Given the description of an element on the screen output the (x, y) to click on. 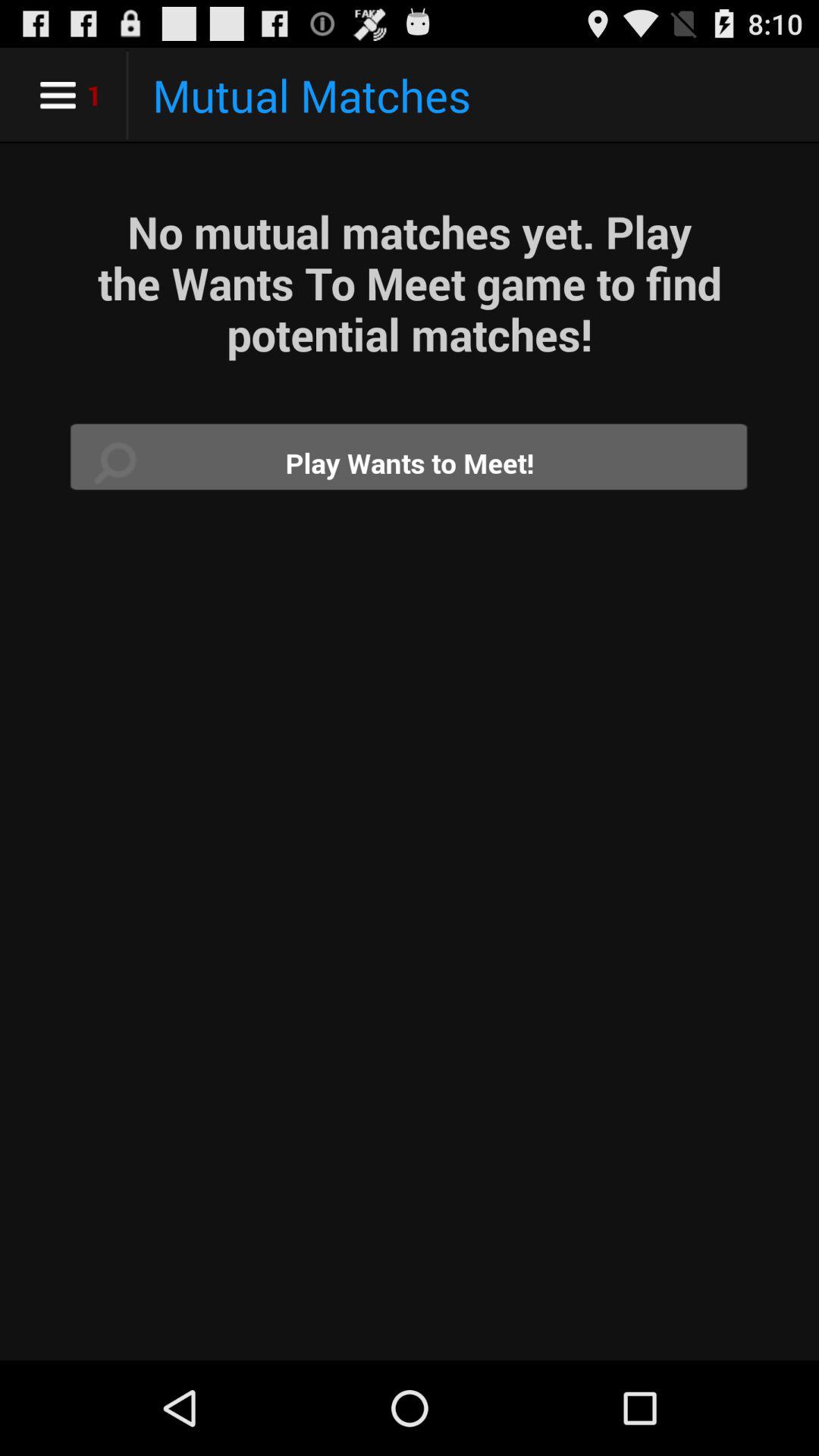
option selector (409, 462)
